Given the description of an element on the screen output the (x, y) to click on. 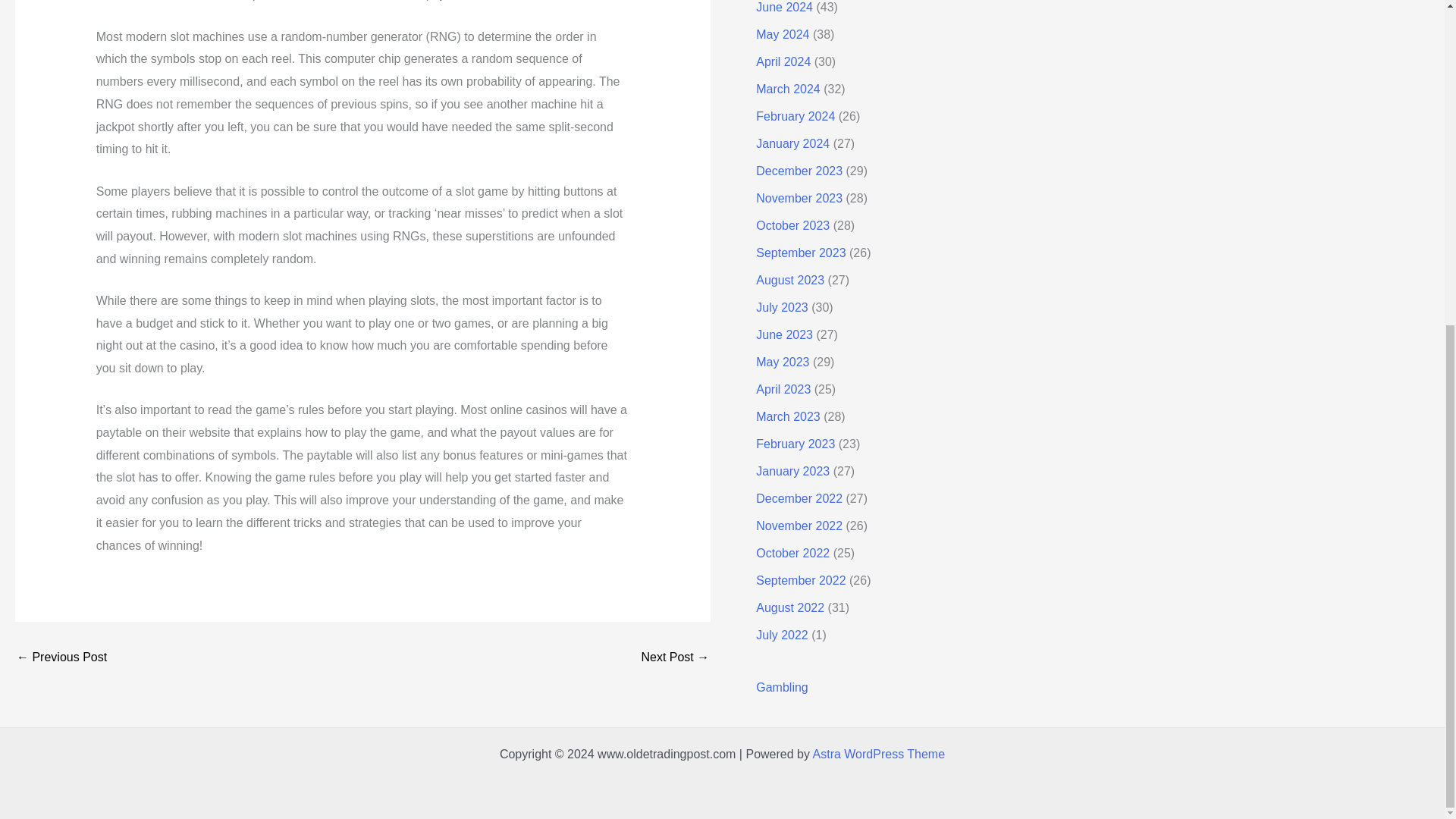
What is a Lottery? (674, 657)
September 2023 (800, 252)
March 2023 (788, 416)
October 2022 (792, 553)
June 2024 (783, 6)
May 2023 (782, 361)
August 2023 (789, 279)
December 2023 (799, 170)
October 2023 (792, 225)
February 2023 (794, 443)
